Given the description of an element on the screen output the (x, y) to click on. 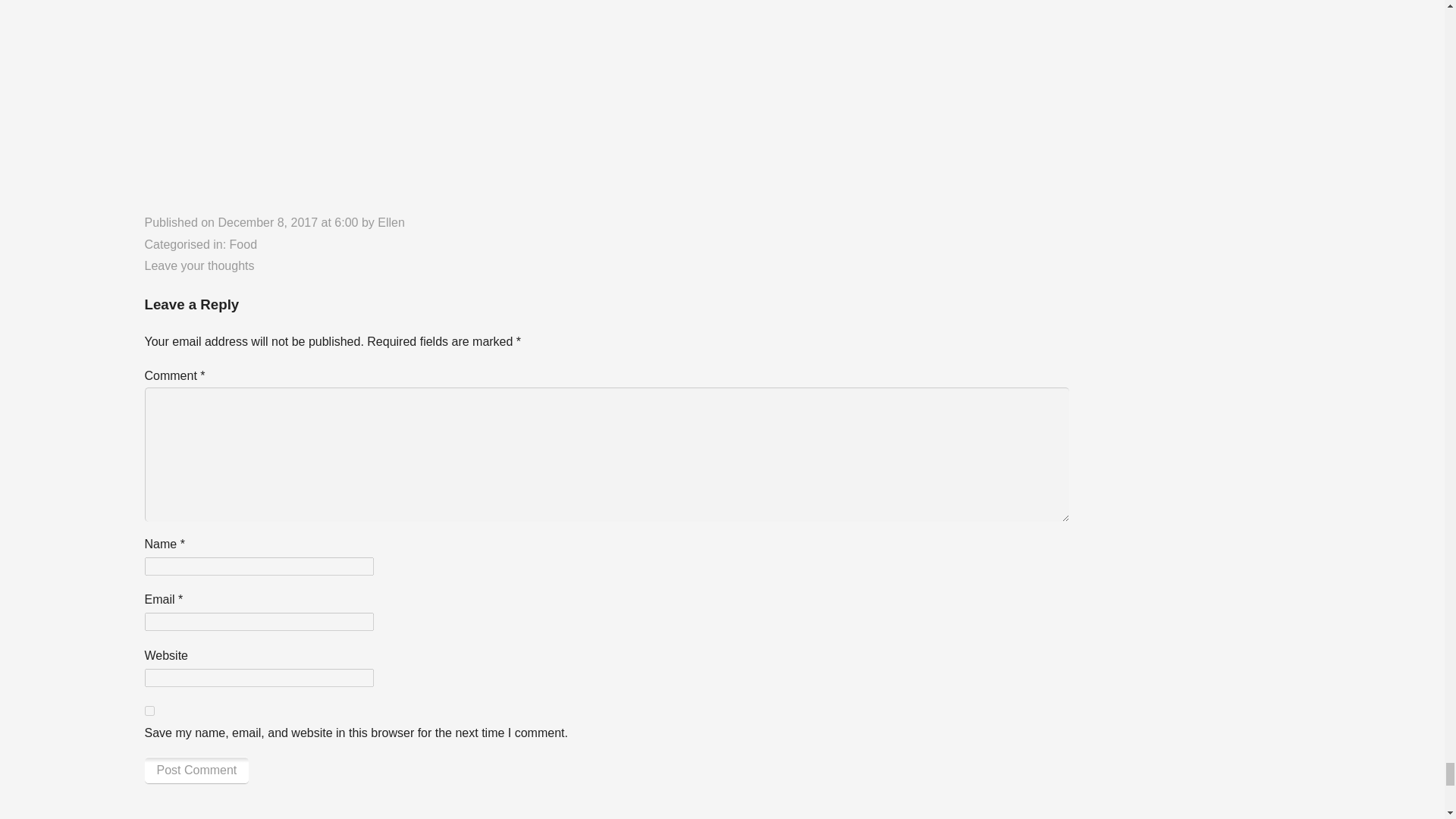
Post Comment (196, 769)
Ellen (390, 222)
Food (243, 244)
yes (149, 710)
Post Comment (196, 769)
Posts by Ellen (390, 222)
Leave your thoughts (198, 265)
